Given the description of an element on the screen output the (x, y) to click on. 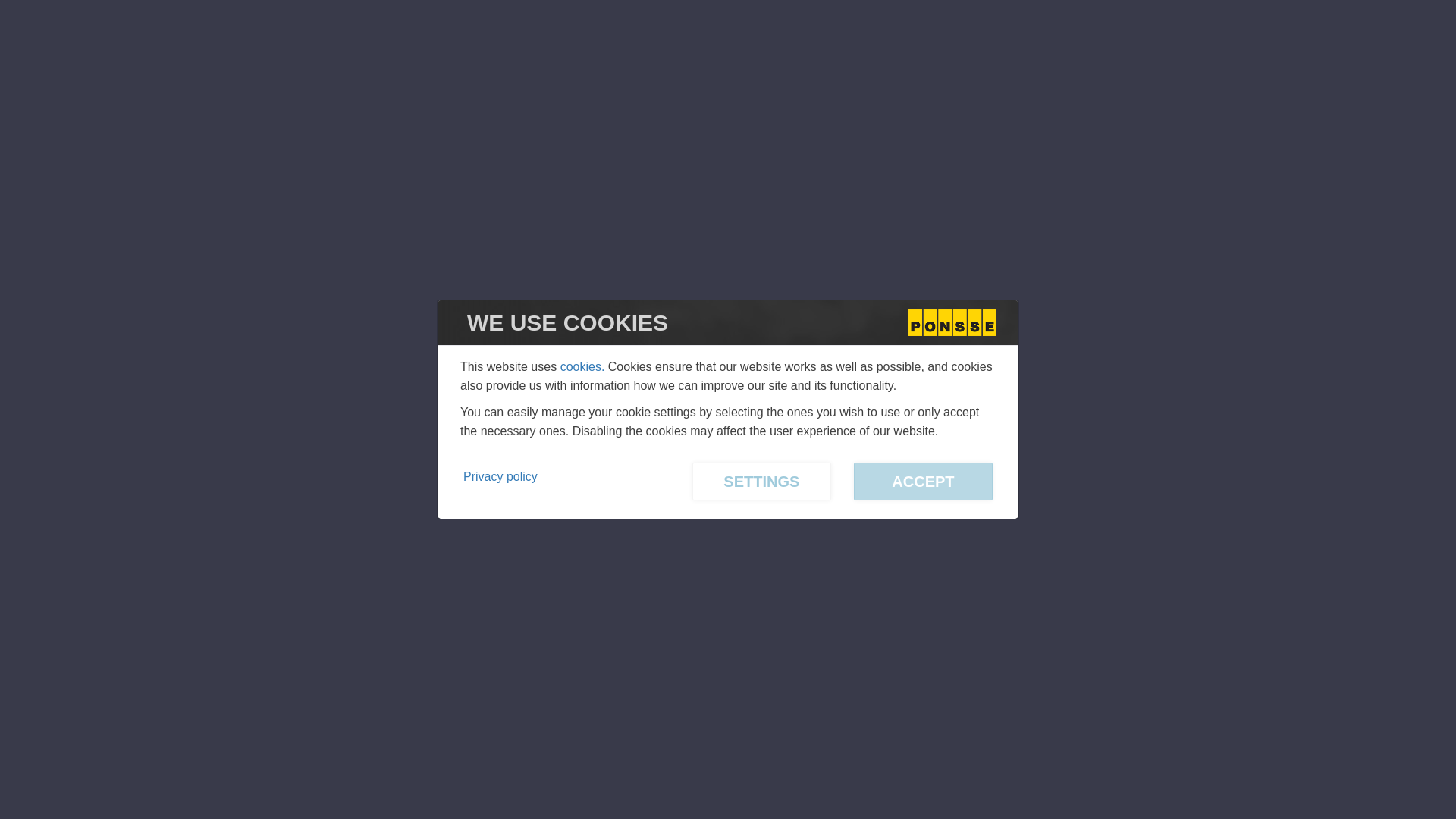
SERVICES (407, 60)
COMPANY (500, 60)
USED MACHINES (296, 60)
PRODUCTS (185, 60)
